Given the description of an element on the screen output the (x, y) to click on. 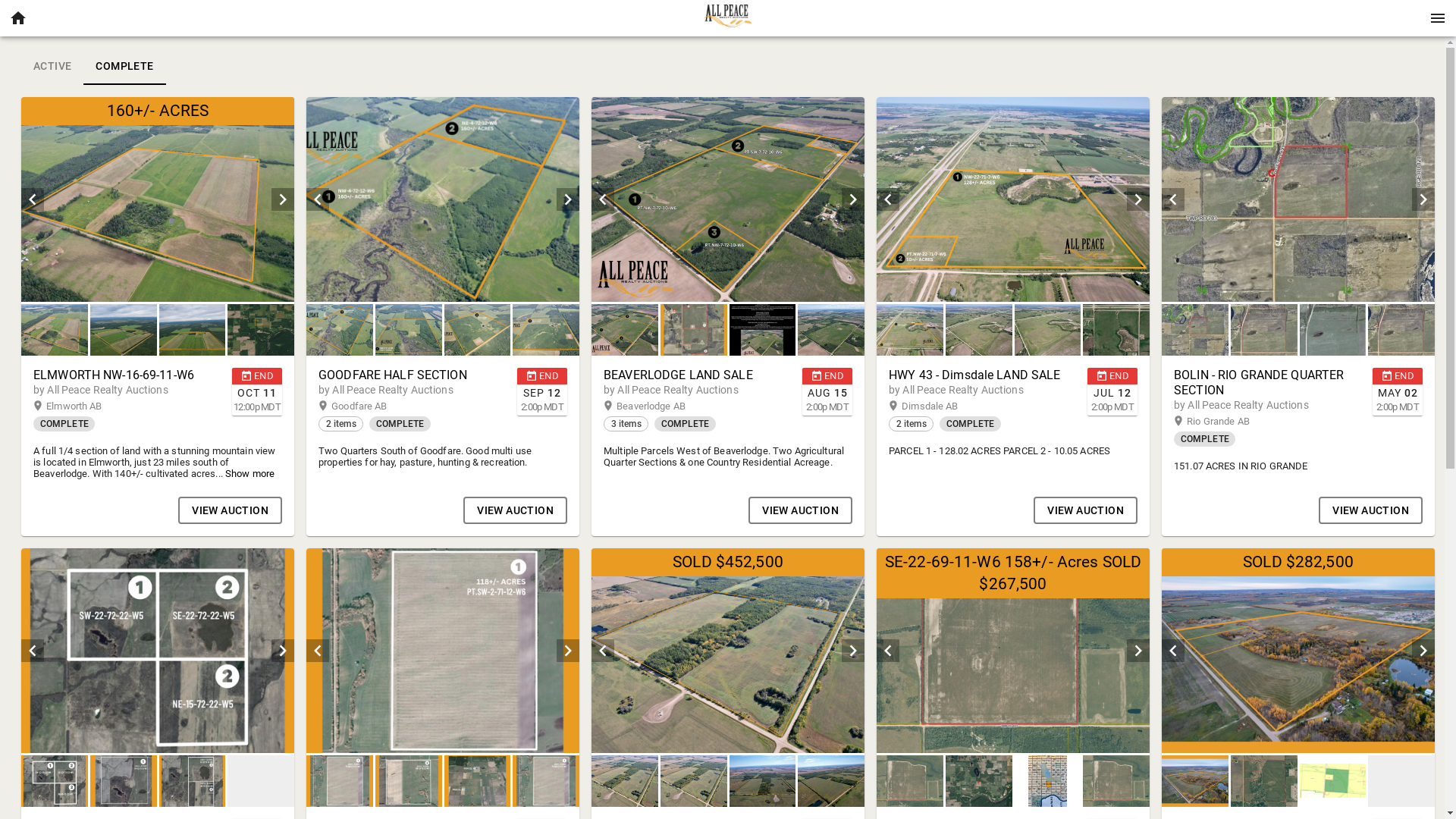
ACTIVE Element type: text (52, 66)
COMPLETE Element type: text (124, 66)
GOODFARE HALF SECTION Element type: text (411, 374)
VIEW AUCTION Element type: text (1370, 510)
HWY 43 - Dimsdale LAND SALE Element type: text (982, 374)
BOLIN - RIO GRANDE QUARTER SECTION Element type: text (1267, 382)
VIEW AUCTION Element type: text (230, 510)
ELMWORTH NW-16-69-11-W6 Element type: text (126, 374)
VIEW AUCTION Element type: text (515, 510)
BEAVERLODGE LAND SALE Element type: text (696, 374)
VIEW AUCTION Element type: text (800, 510)
VIEW AUCTION Element type: text (1085, 510)
